Given the description of an element on the screen output the (x, y) to click on. 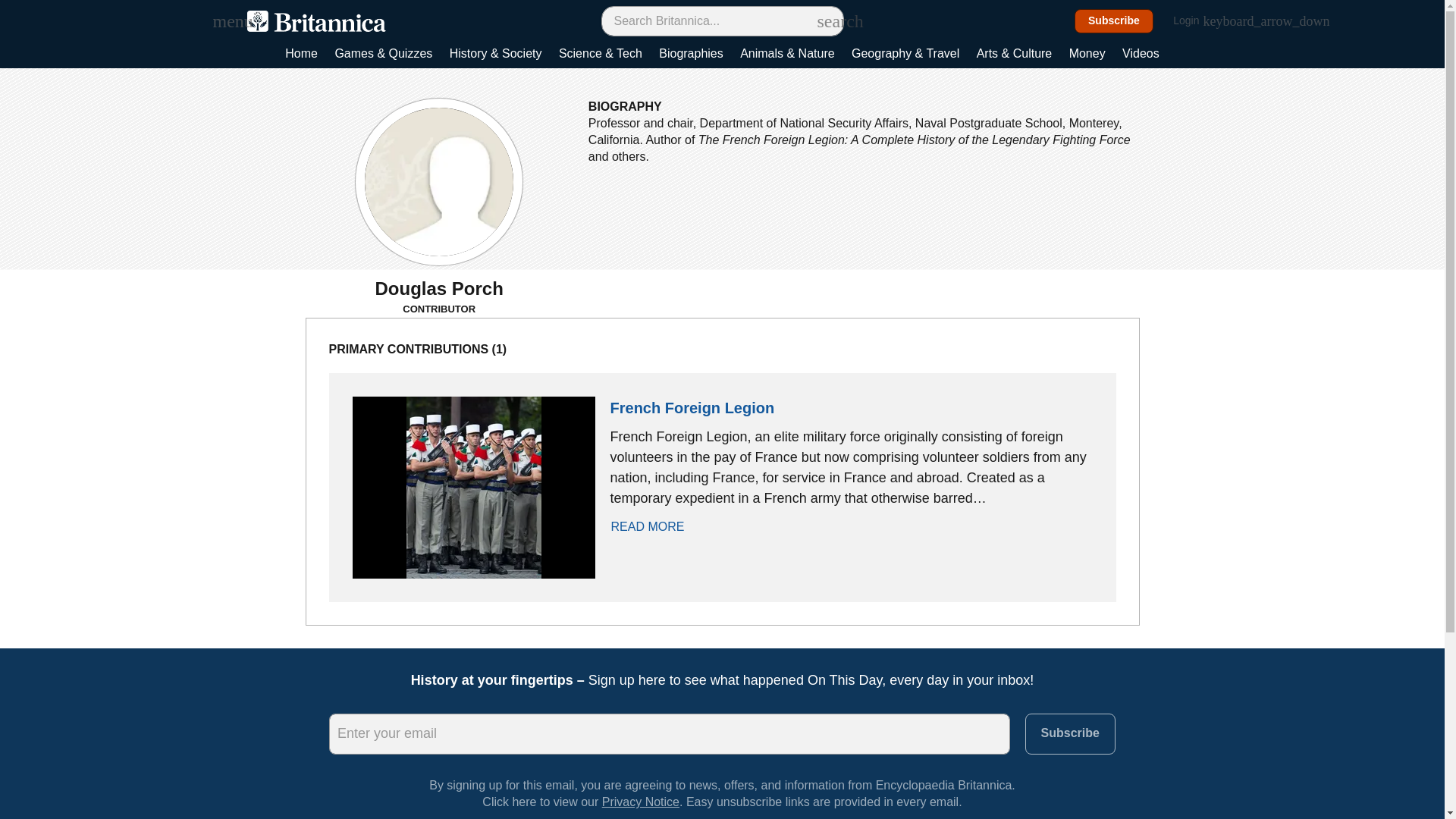
Privacy Notice (640, 801)
Money (1086, 54)
Videos (1140, 54)
READ MORE (655, 526)
Home (301, 54)
Click here to search (825, 20)
Subscribe (1070, 733)
French Foreign Legion (692, 407)
Subscribe (1114, 21)
Login (1194, 20)
Biographies (691, 54)
